Given the description of an element on the screen output the (x, y) to click on. 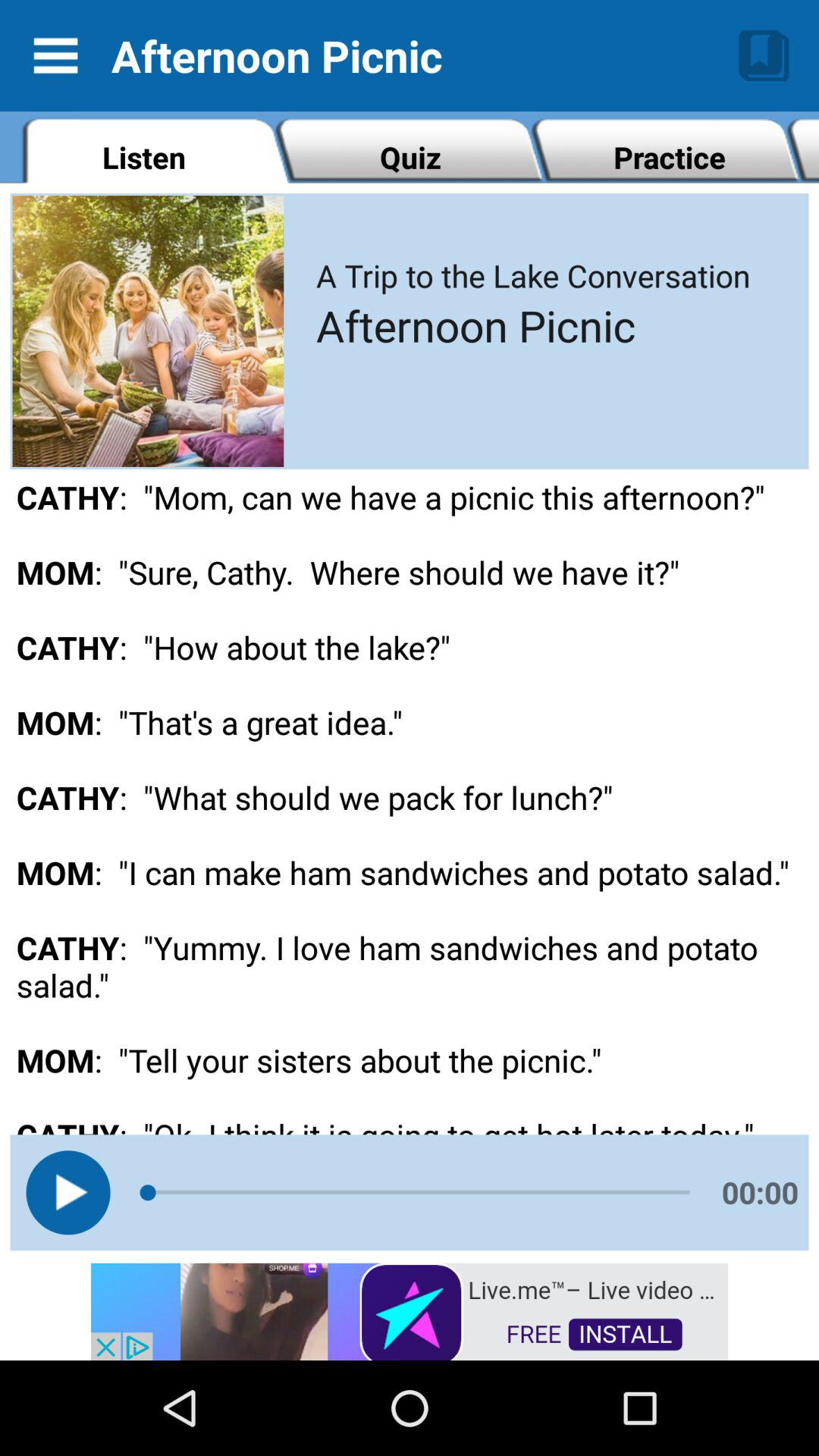
press play (68, 1192)
